Given the description of an element on the screen output the (x, y) to click on. 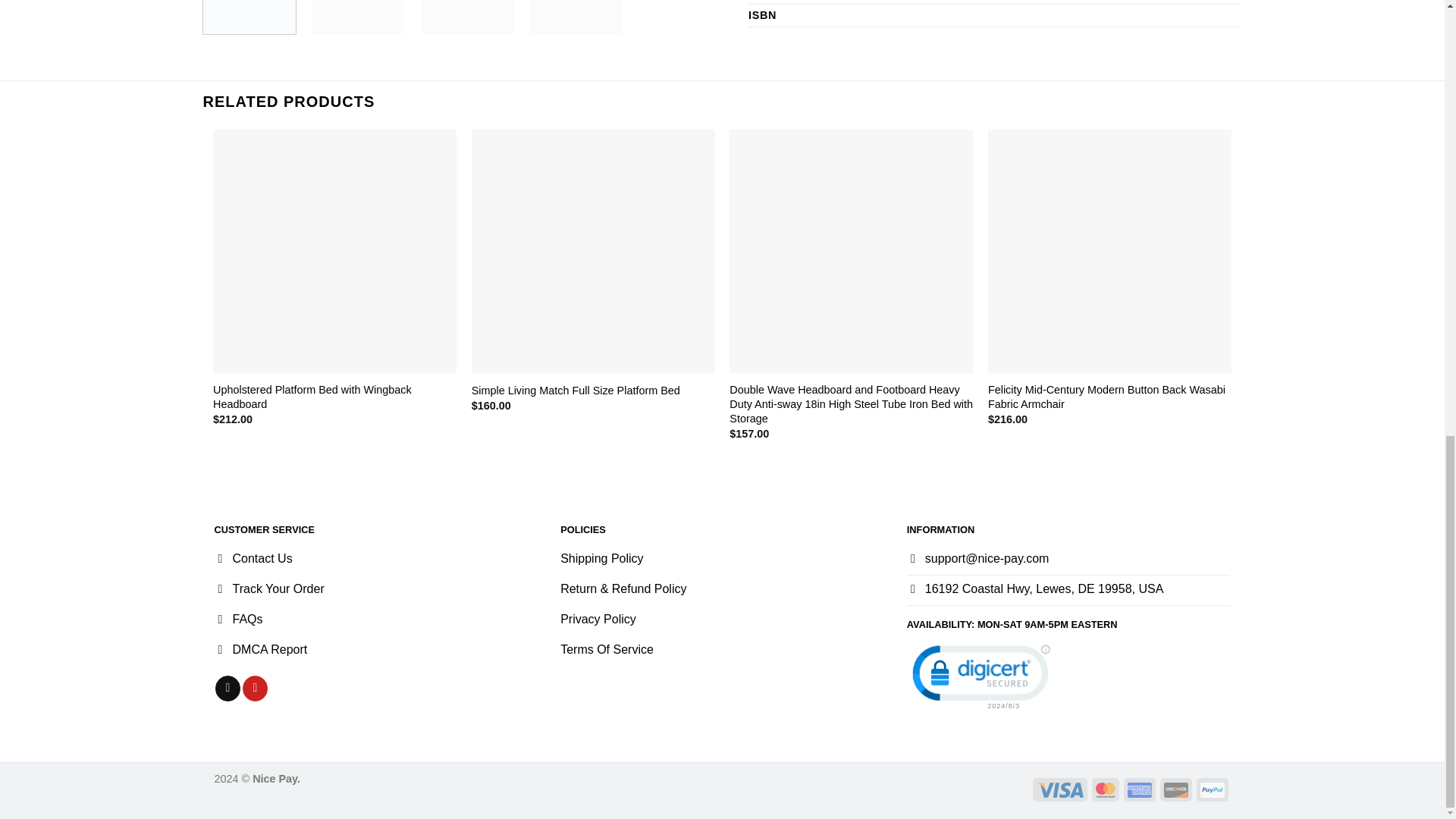
Created with Sketch. (1211, 789)
Follow on X (227, 688)
Created with Sketch. (1138, 789)
Created with Sketch. (1175, 789)
Follow on Pinterest (255, 688)
